Given the description of an element on the screen output the (x, y) to click on. 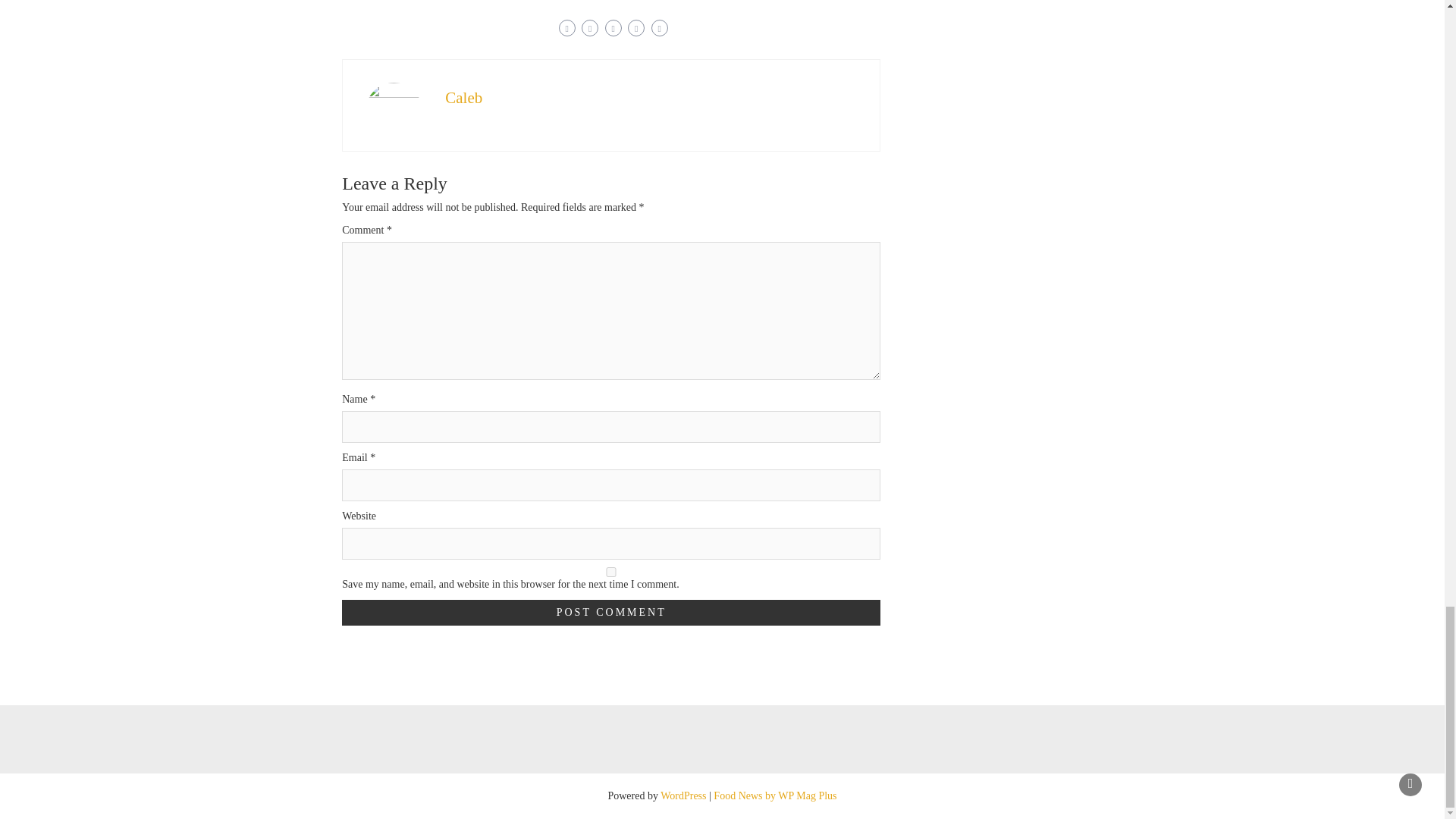
Post Comment (611, 612)
Post Comment (611, 612)
Caleb (463, 97)
yes (611, 572)
